Given the description of an element on the screen output the (x, y) to click on. 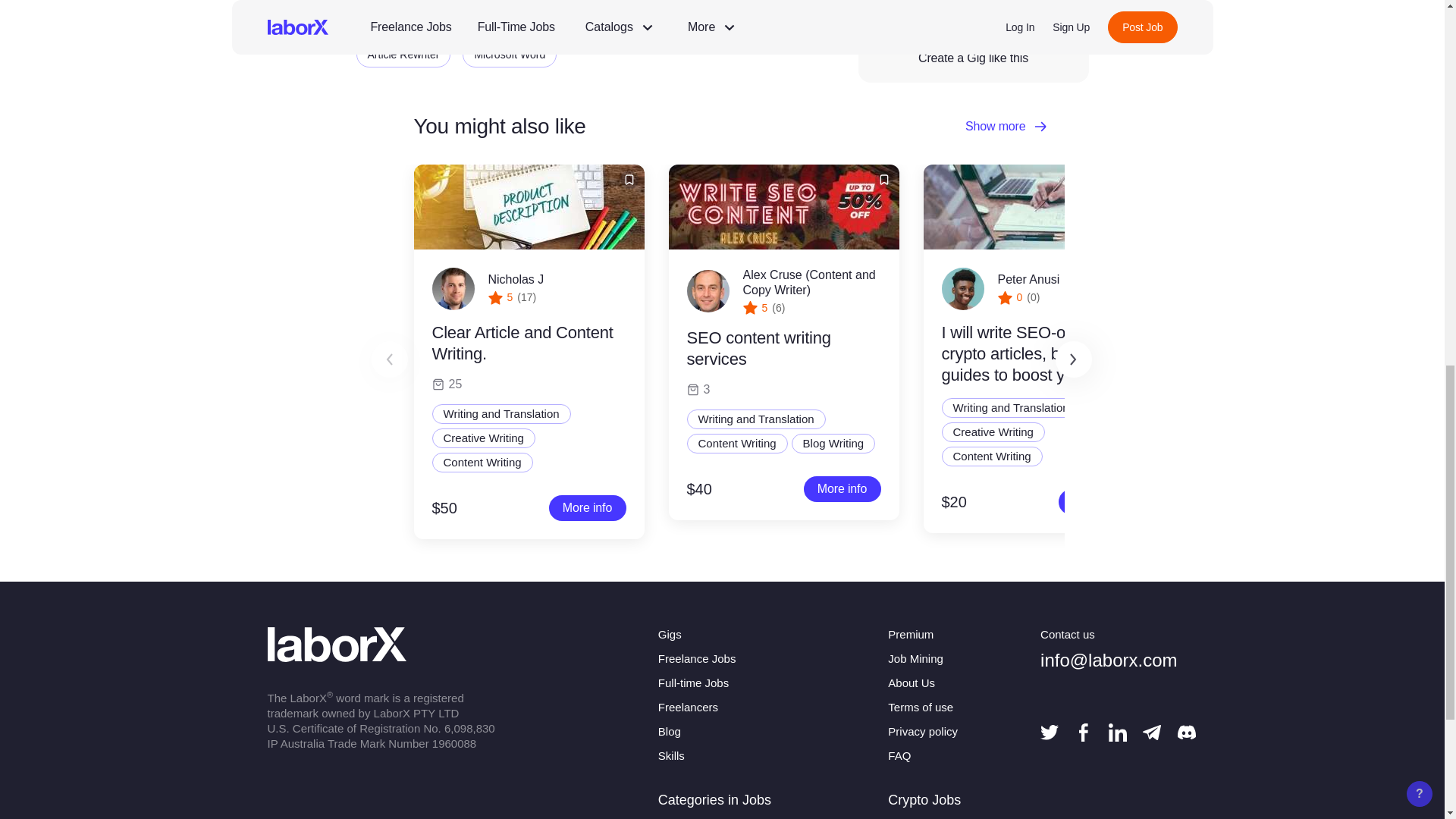
Copywriting (394, 3)
Microsoft Word (509, 54)
Research Writing (726, 23)
Article Rewriter (403, 54)
Spelling (760, 3)
Blog Writing (581, 3)
Punctuation (395, 23)
English Proofreading (506, 23)
Blog Content (675, 3)
Proofreading (487, 3)
Show more (1005, 126)
